Given the description of an element on the screen output the (x, y) to click on. 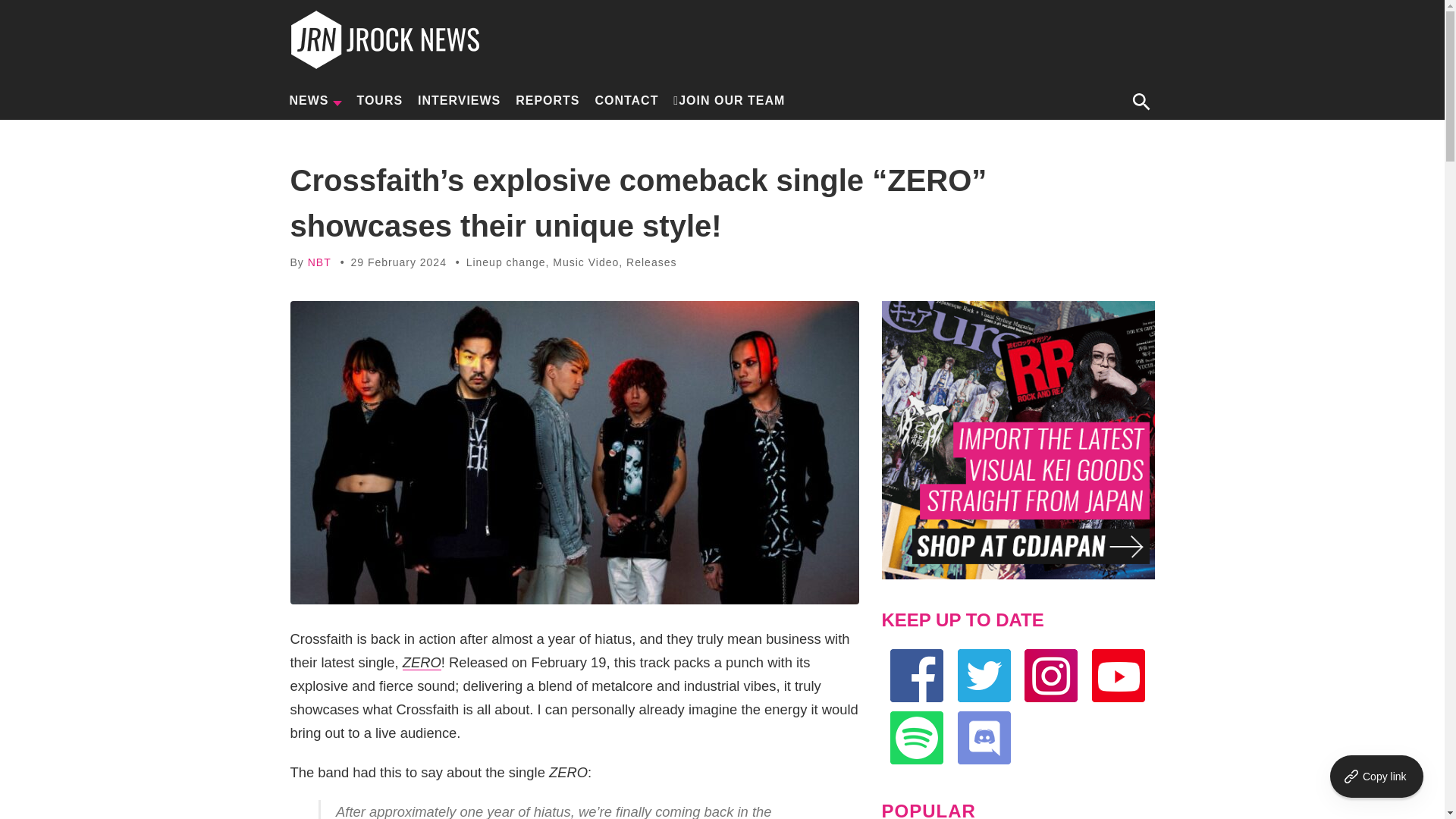
INTERVIEWS (458, 100)
View all posts in Releases (651, 262)
REPORTS (547, 100)
TOURS (379, 100)
NBT (319, 262)
View all posts in Lineup change (505, 262)
Posts by NBT (319, 262)
NEWS (314, 100)
ZERO (422, 662)
View all posts in Music Video (585, 262)
